Given the description of an element on the screen output the (x, y) to click on. 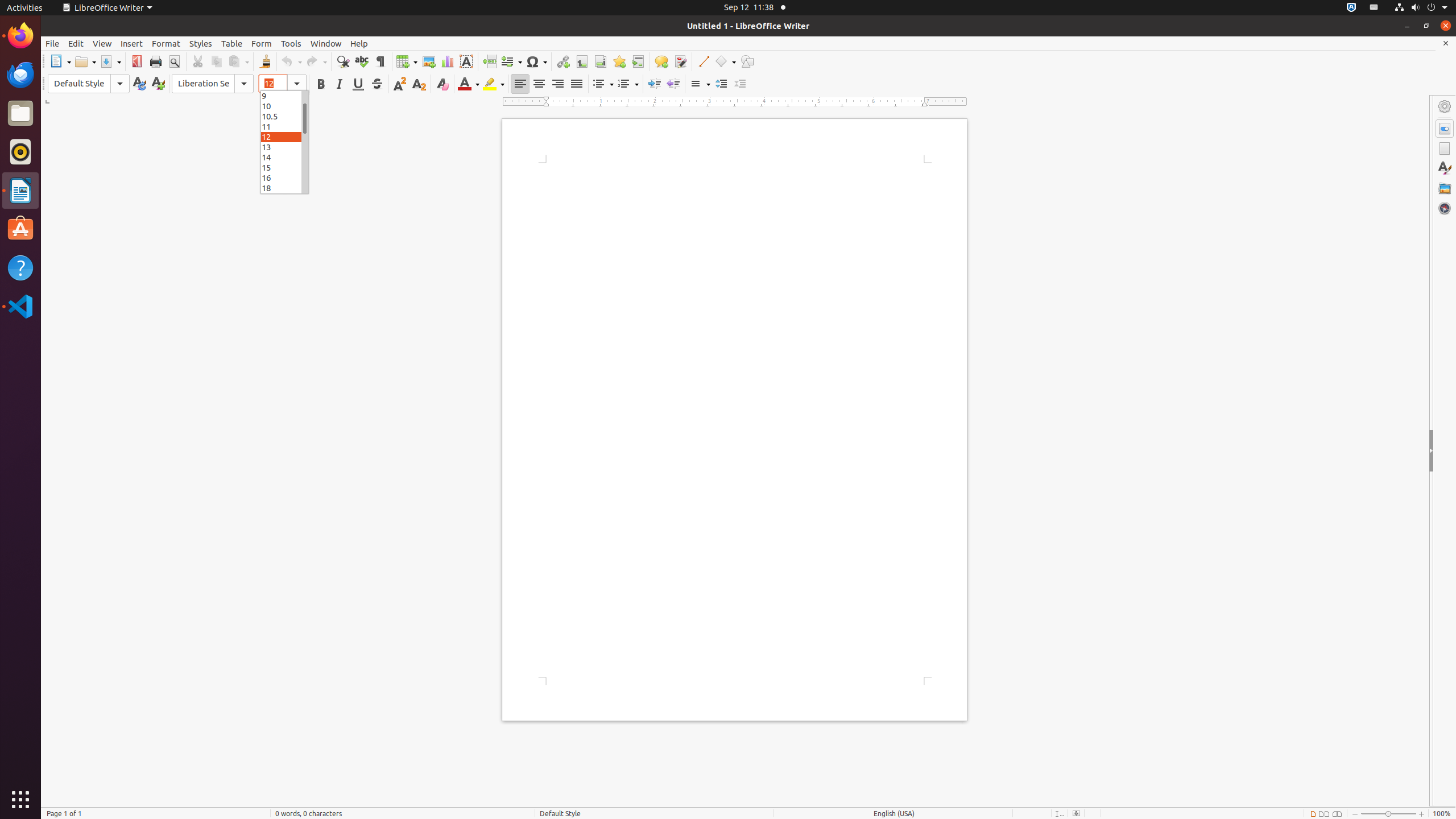
Right Element type: toggle-button (557, 83)
Navigator Element type: radio-button (1444, 208)
10.5 Element type: list-item (284, 115)
Increase Element type: push-button (721, 83)
Line Element type: toggle-button (702, 61)
